Given the description of an element on the screen output the (x, y) to click on. 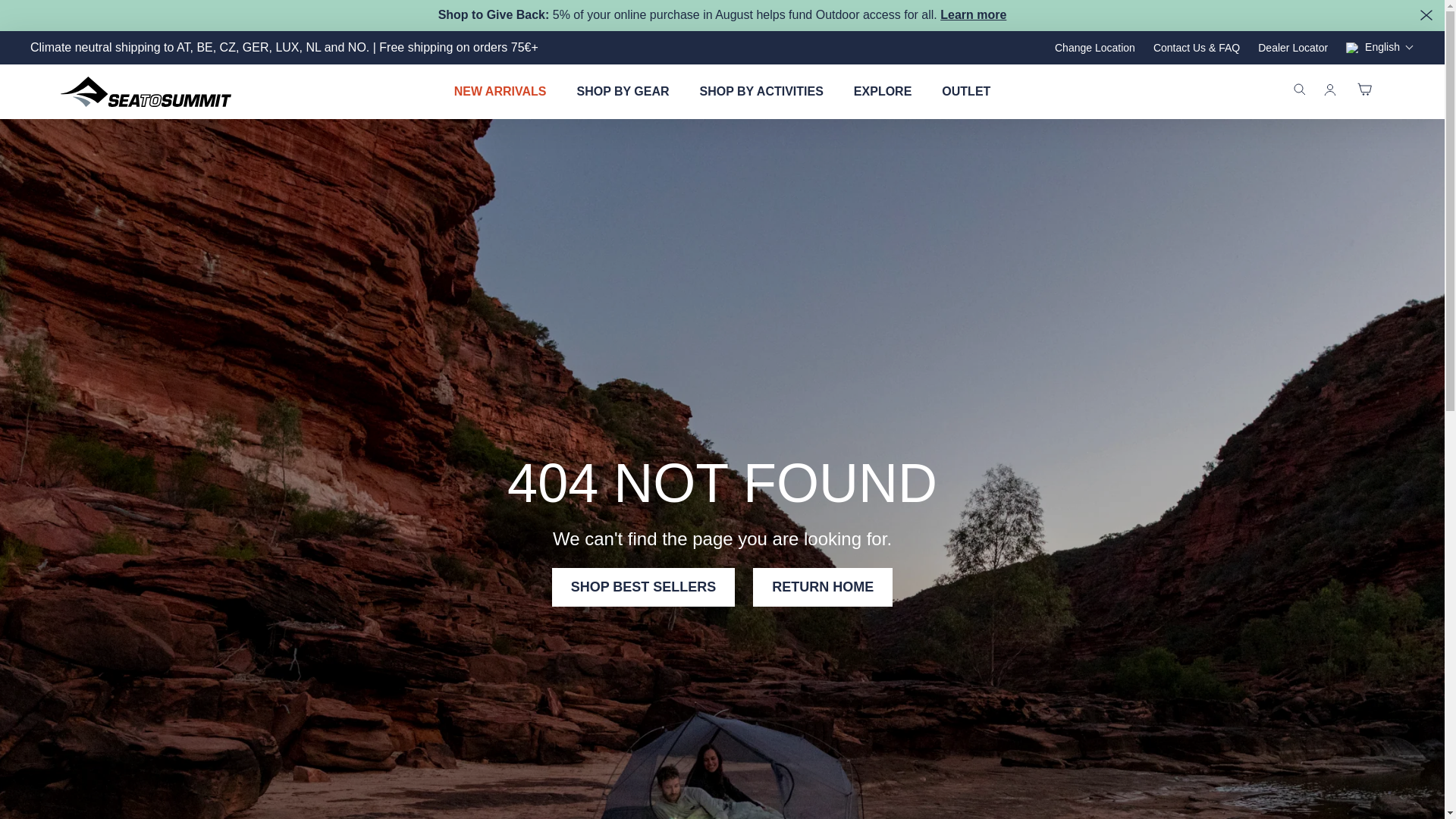
SHOP BY GEAR (622, 91)
Give Back Incentive August (973, 14)
Dealer Locator (1292, 47)
Learn more (973, 14)
NEW ARRIVALS (500, 91)
Change Location (1094, 47)
